Given the description of an element on the screen output the (x, y) to click on. 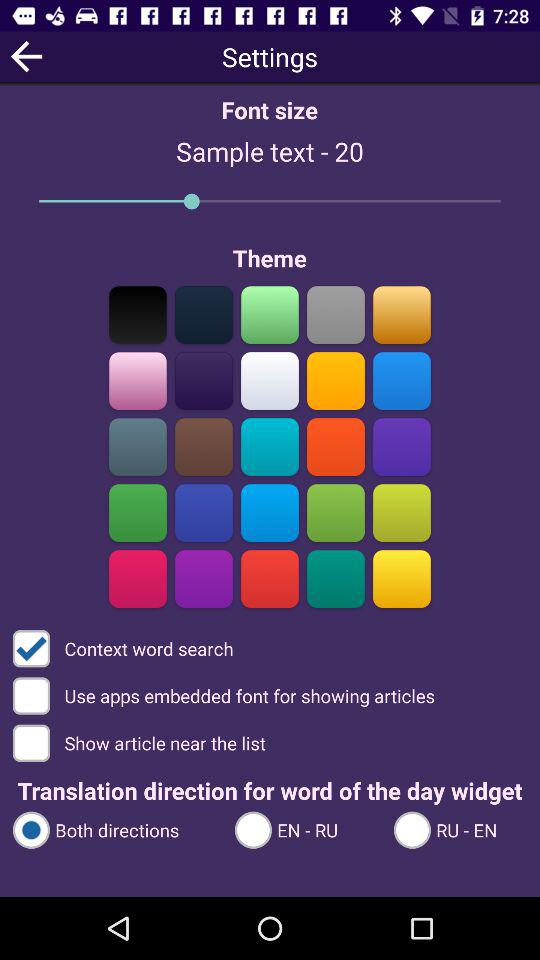
theme changing option (137, 578)
